Given the description of an element on the screen output the (x, y) to click on. 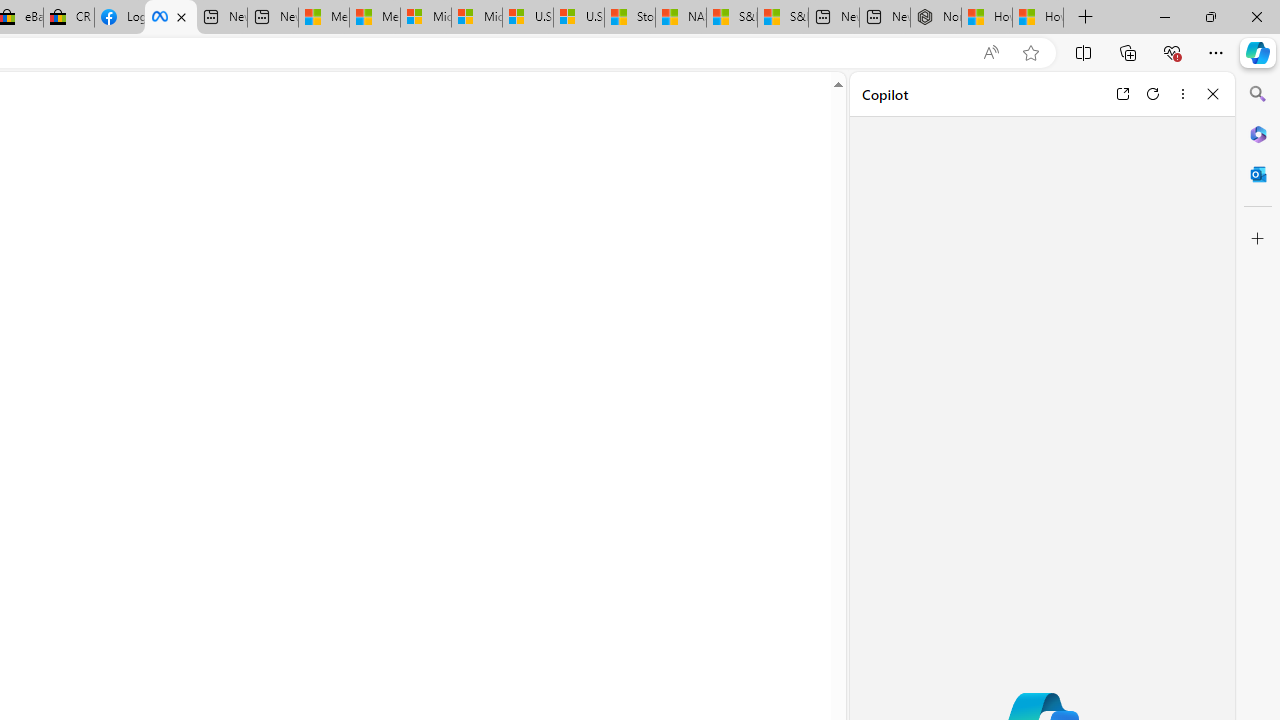
Open link in new tab (1122, 93)
S&P 500, Nasdaq end lower, weighed by Nvidia dip | Watch (782, 17)
Meta Store (170, 17)
Outlook (1258, 174)
